Given the description of an element on the screen output the (x, y) to click on. 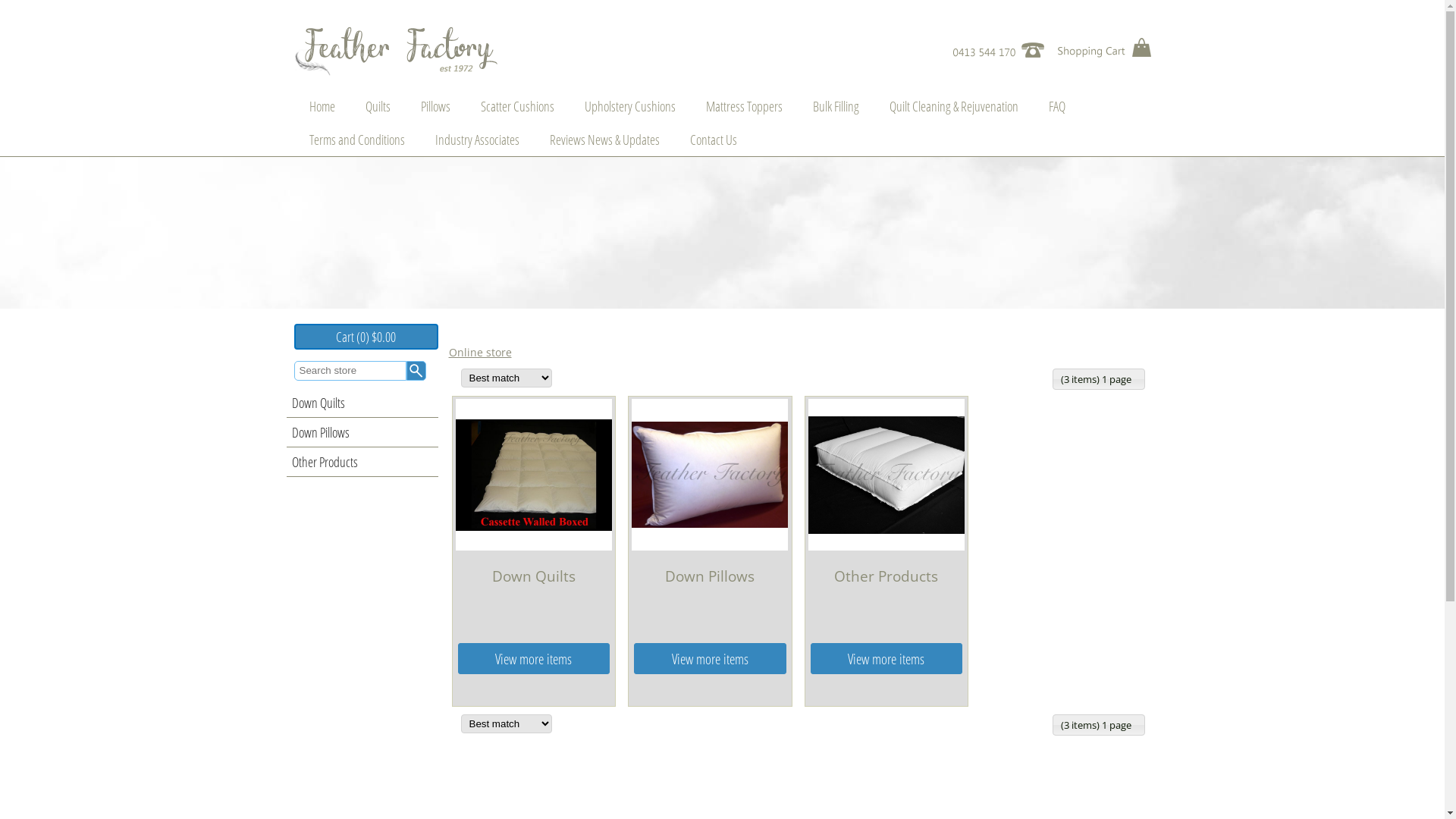
View more items Element type: text (534, 658)
Other Products Element type: hover (886, 474)
Home Element type: text (322, 105)
Reviews News & Updates Element type: text (603, 139)
Quilts Element type: text (377, 105)
View more items Element type: text (885, 658)
Mattress Toppers Element type: text (743, 105)
Scatter Cushions Element type: text (517, 105)
Down Quilts Element type: text (362, 402)
Cart (0) $0.00 Element type: text (366, 336)
Bulk Filling Element type: text (835, 105)
Other Products Element type: text (362, 461)
Down Quilts Element type: hover (533, 474)
Online store Element type: text (479, 352)
Down Pillows Element type: text (362, 432)
Down Pillows Element type: hover (709, 474)
Industry Associates Element type: text (477, 139)
Terms and Conditions Element type: text (357, 139)
Upholstery Cushions Element type: text (629, 105)
View more items Element type: text (709, 658)
Quilt Cleaning & Rejuvenation Element type: text (952, 105)
Contact Us Element type: text (713, 139)
FAQ Element type: text (1055, 105)
Pillows Element type: text (434, 105)
